Given the description of an element on the screen output the (x, y) to click on. 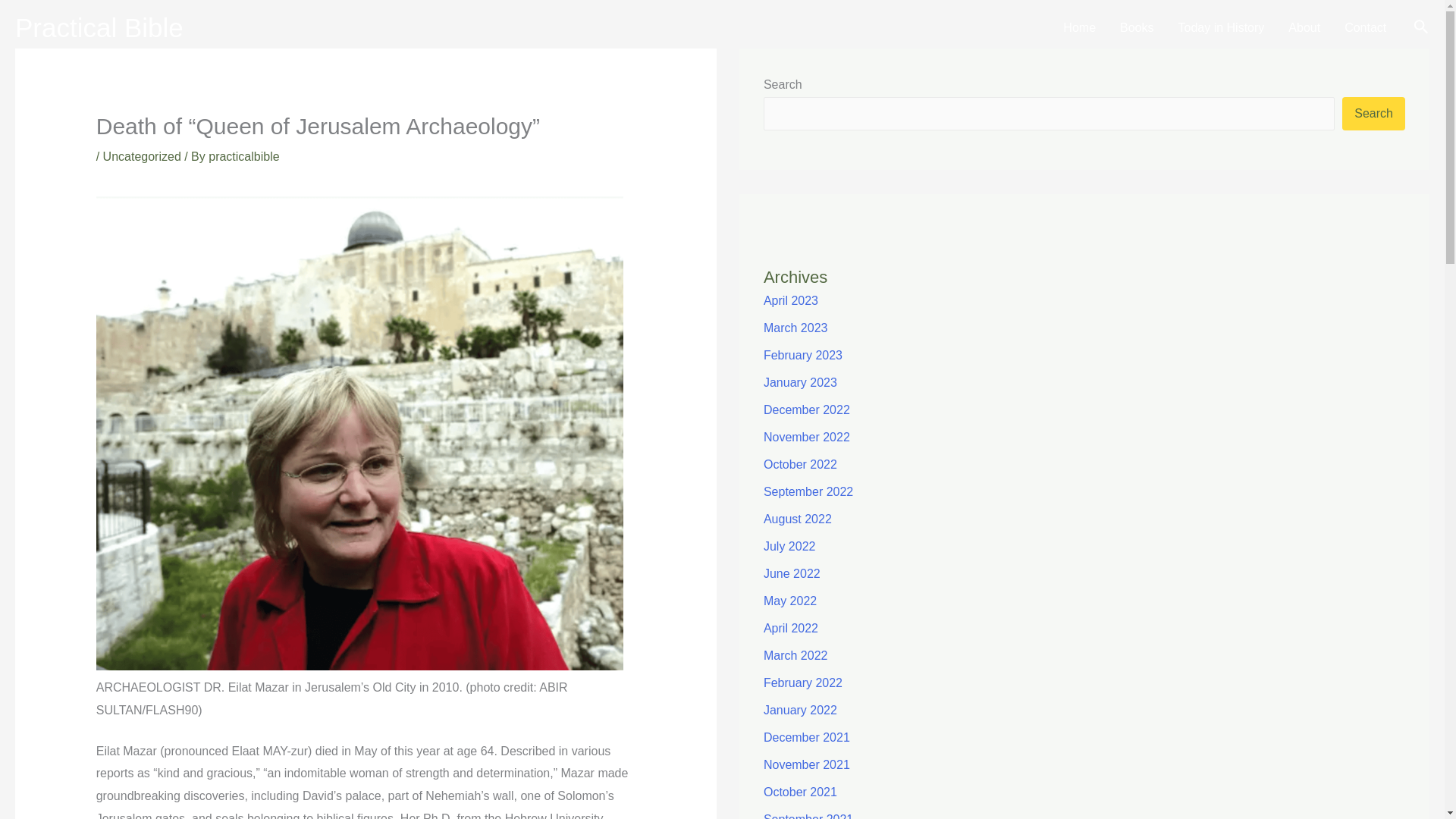
View all posts by practicalbible (243, 155)
Books (1137, 27)
Search (1373, 113)
April 2023 (790, 300)
June 2022 (791, 573)
March 2022 (795, 655)
February 2022 (802, 682)
practicalbible (243, 155)
September 2022 (807, 491)
January 2023 (799, 382)
